Given the description of an element on the screen output the (x, y) to click on. 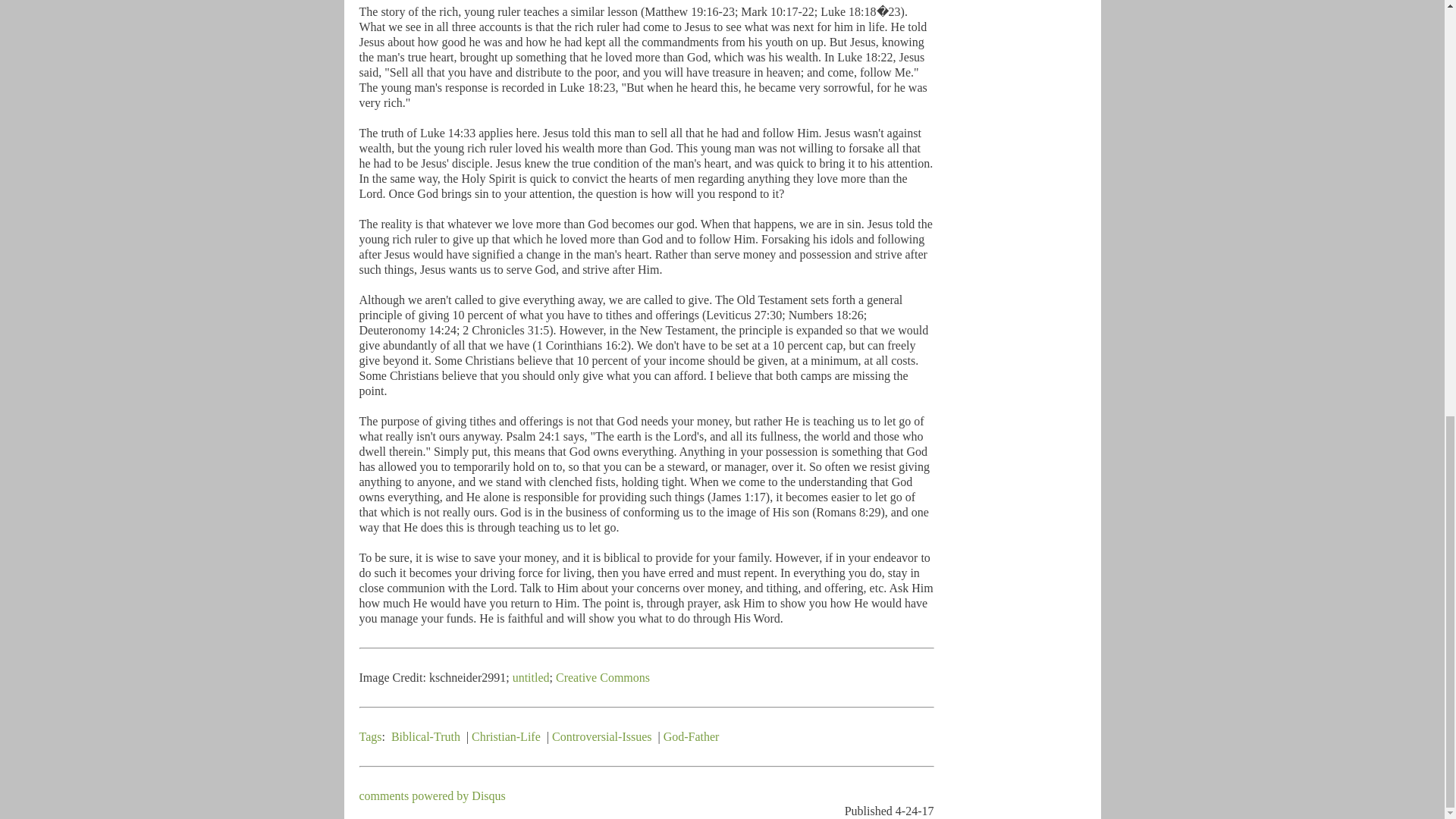
untitled (531, 676)
comments powered by Disqus (432, 795)
Controversial-Issues (601, 736)
Biblical-Truth (425, 736)
God-Father (691, 736)
Tags (370, 736)
Christian-Life (505, 736)
Creative Commons (602, 676)
